Given the description of an element on the screen output the (x, y) to click on. 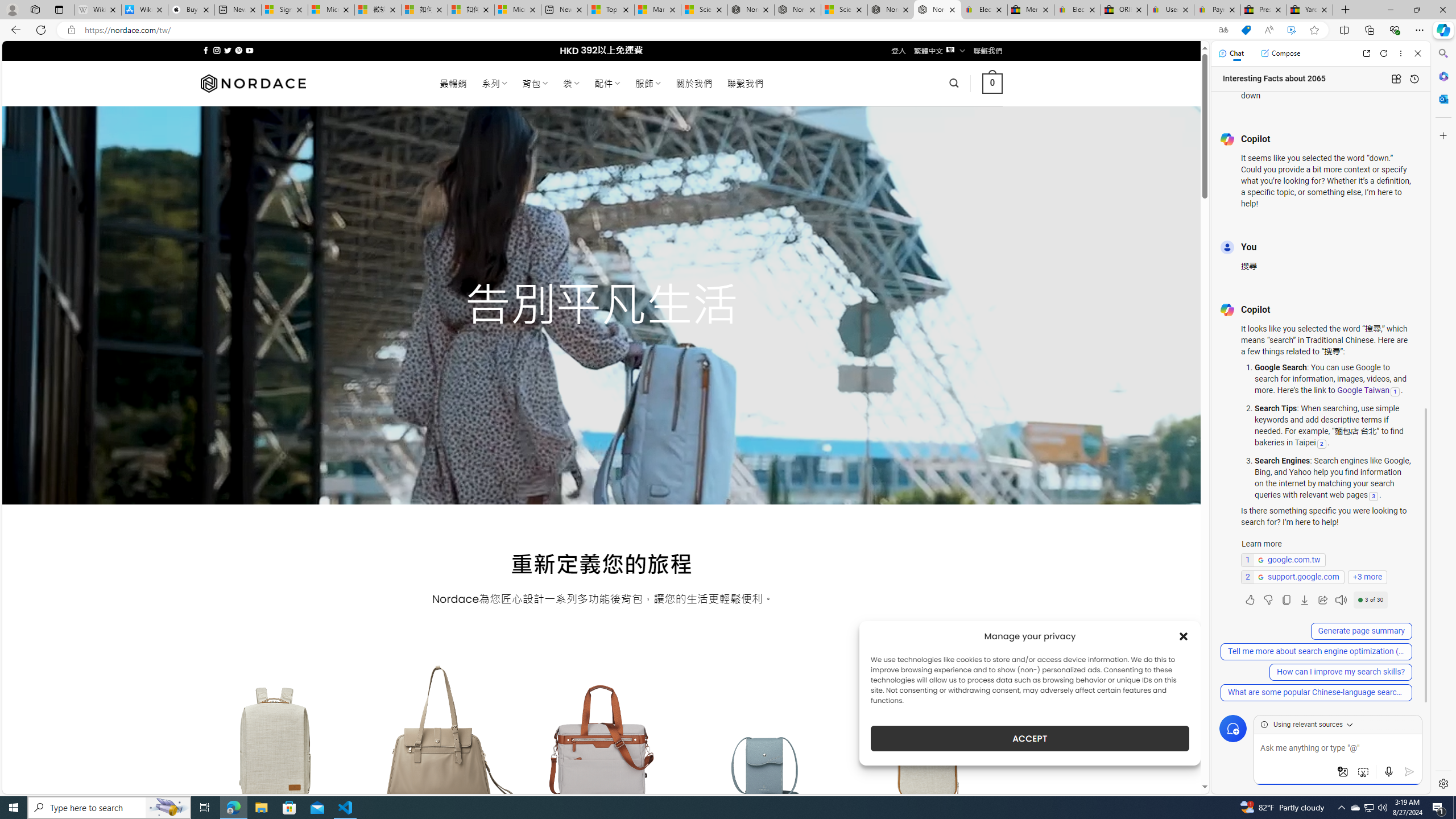
ACCEPT (1029, 738)
Press Room - eBay Inc. (1263, 9)
Wikipedia - Sleeping (97, 9)
User Privacy Notice | eBay (1170, 9)
Follow on Twitter (227, 50)
